Given the description of an element on the screen output the (x, y) to click on. 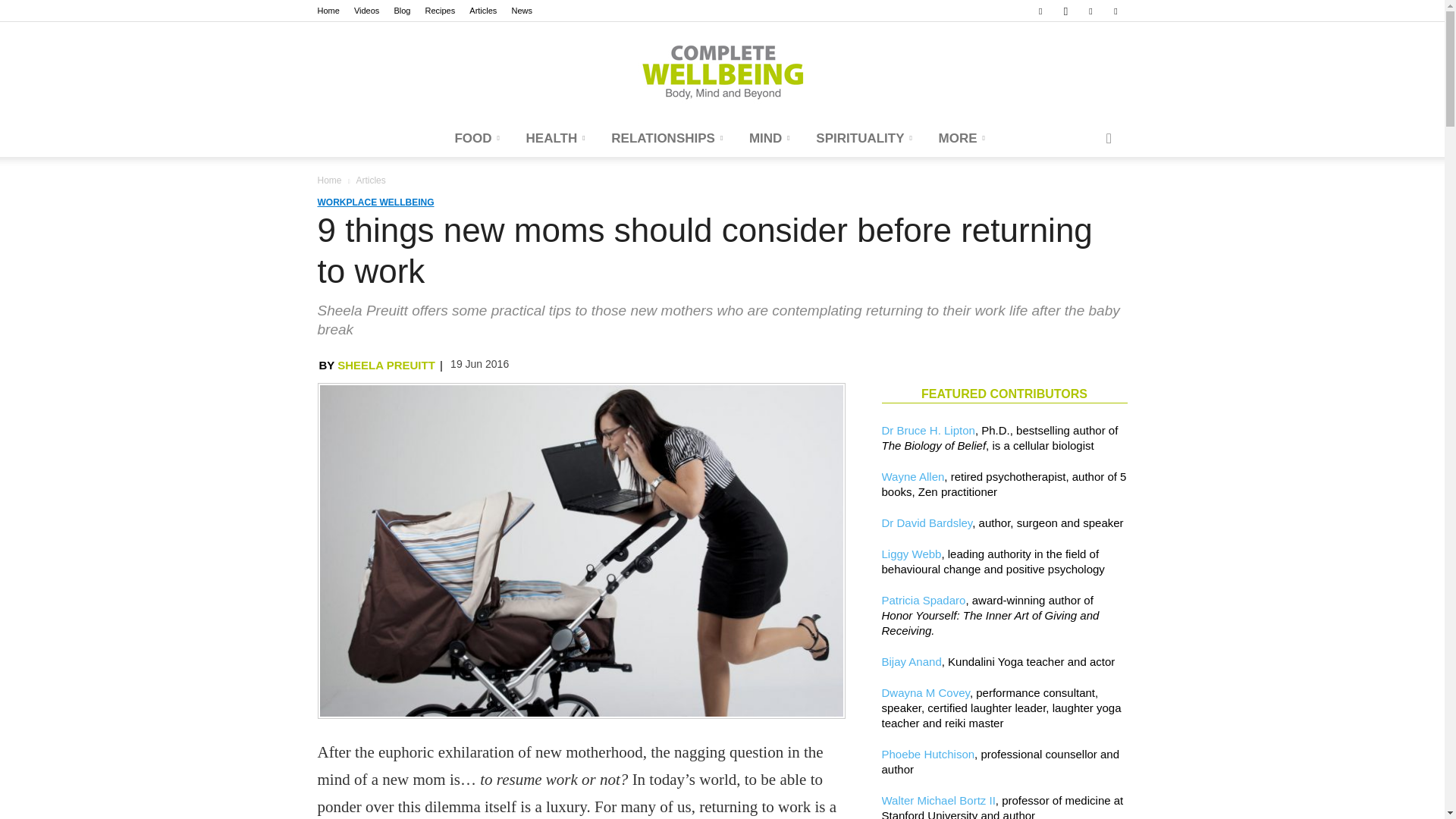
Videos (365, 10)
Home (328, 10)
Posts by Sheela Preuitt (386, 364)
Facebook (1040, 10)
Recipes (439, 10)
BODY, MIND AND BEYOND (721, 71)
Pinterest (1090, 10)
Blog (401, 10)
Instagram (1065, 10)
Twitter (1114, 10)
